Given the description of an element on the screen output the (x, y) to click on. 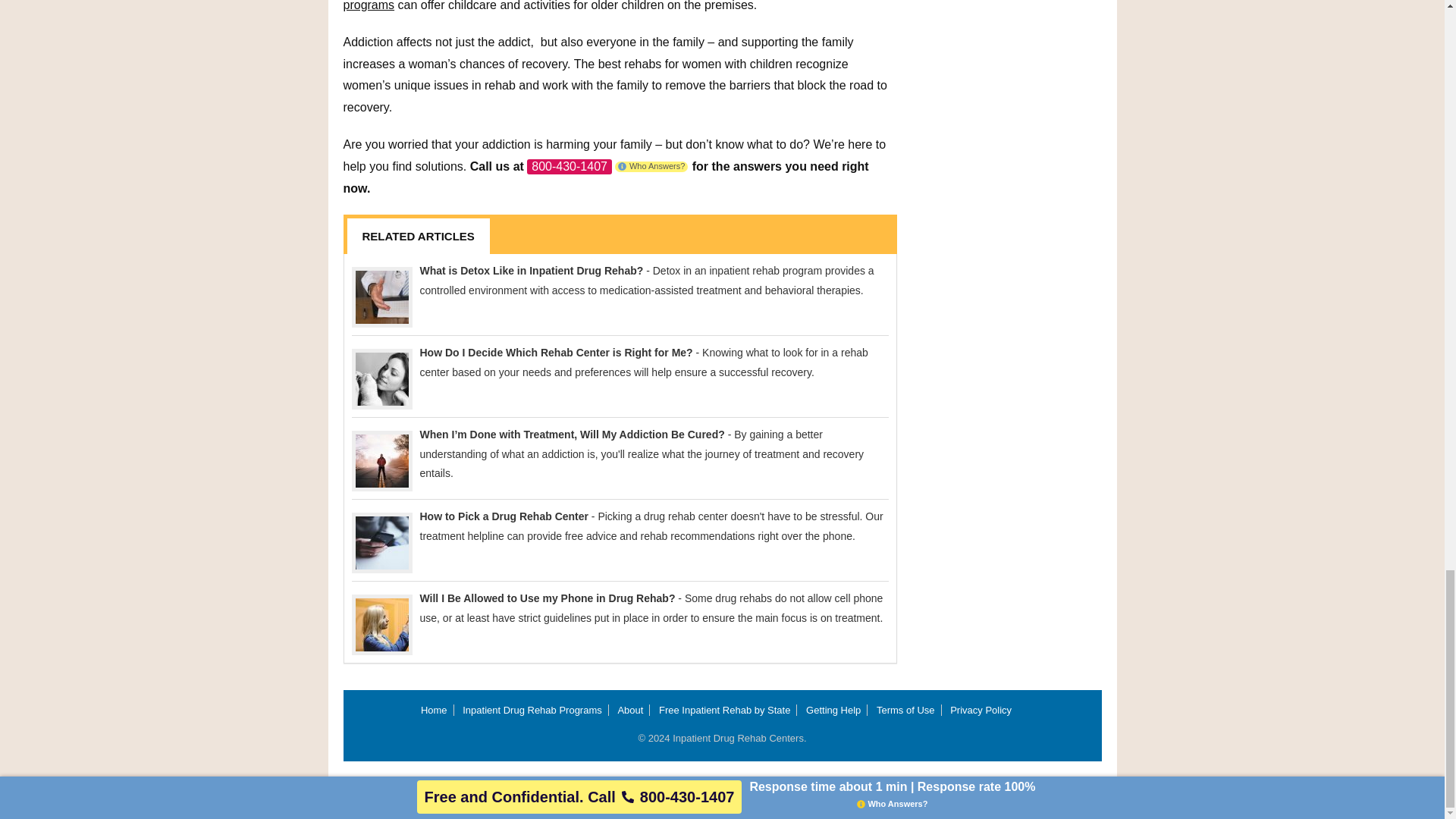
outpatient rehab programs (606, 5)
800-430-1407 (569, 166)
